Given the description of an element on the screen output the (x, y) to click on. 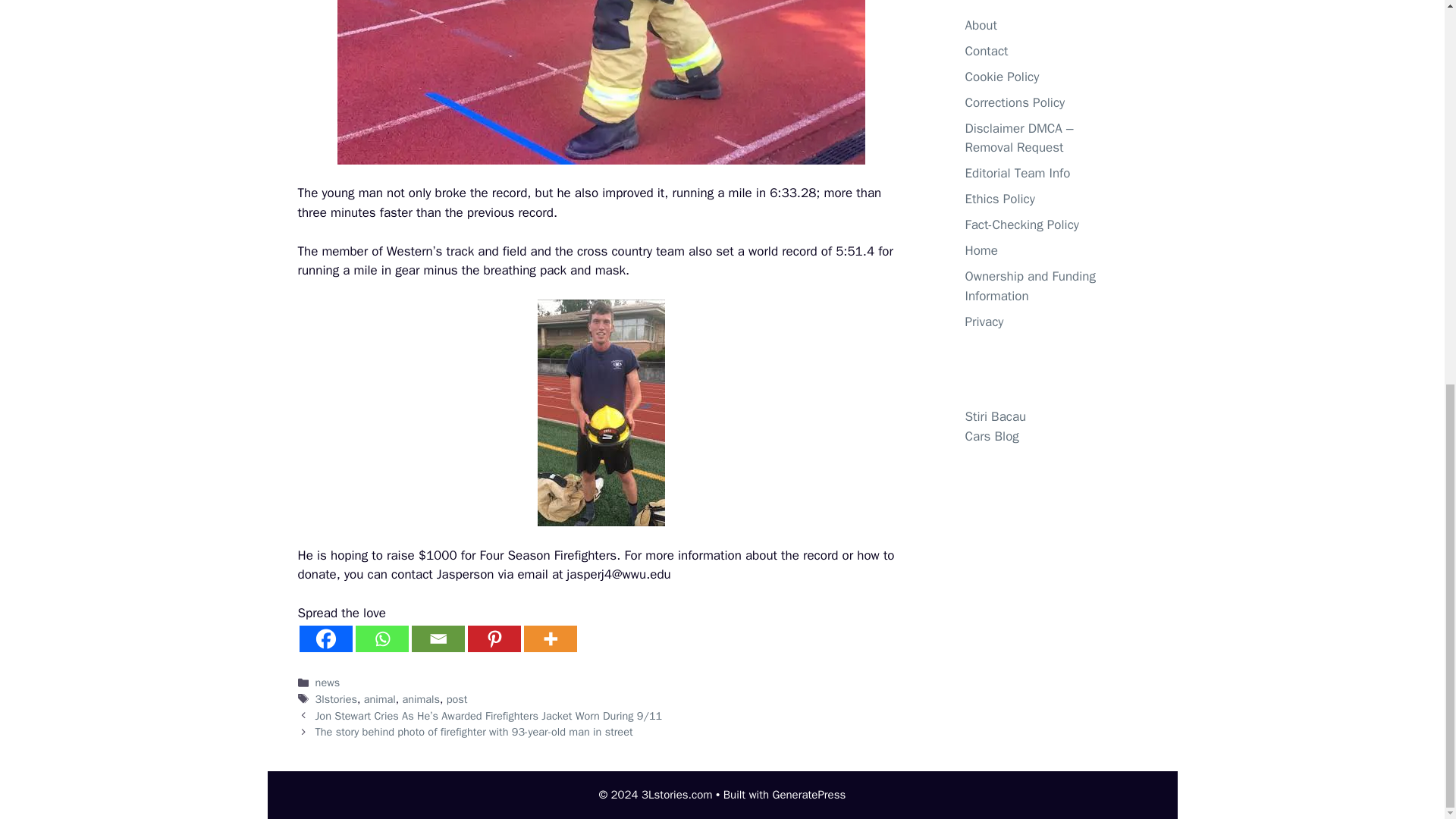
More (549, 638)
Stiri Bacau (994, 416)
news (327, 682)
About (979, 25)
Corrections Policy (1013, 102)
Whatsapp (381, 638)
animals (420, 698)
Editorial Team Info (1016, 172)
Ethics Policy (998, 198)
Cookie Policy (1001, 76)
